Given the description of an element on the screen output the (x, y) to click on. 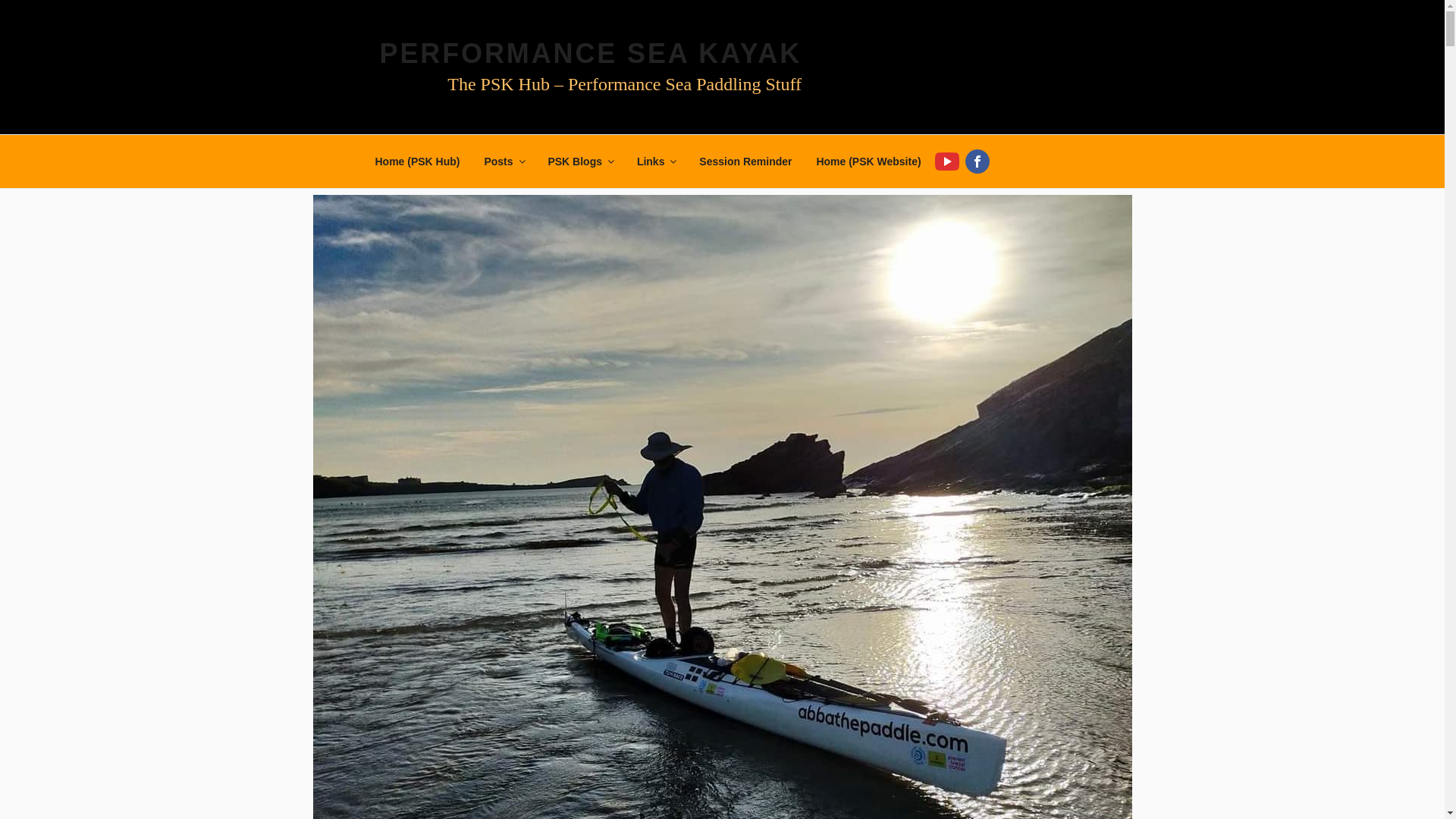
Links (655, 160)
Posts (503, 160)
PSK Blogs (580, 160)
Session Reminder (745, 160)
PERFORMANCE SEA KAYAK (590, 52)
